Given the description of an element on the screen output the (x, y) to click on. 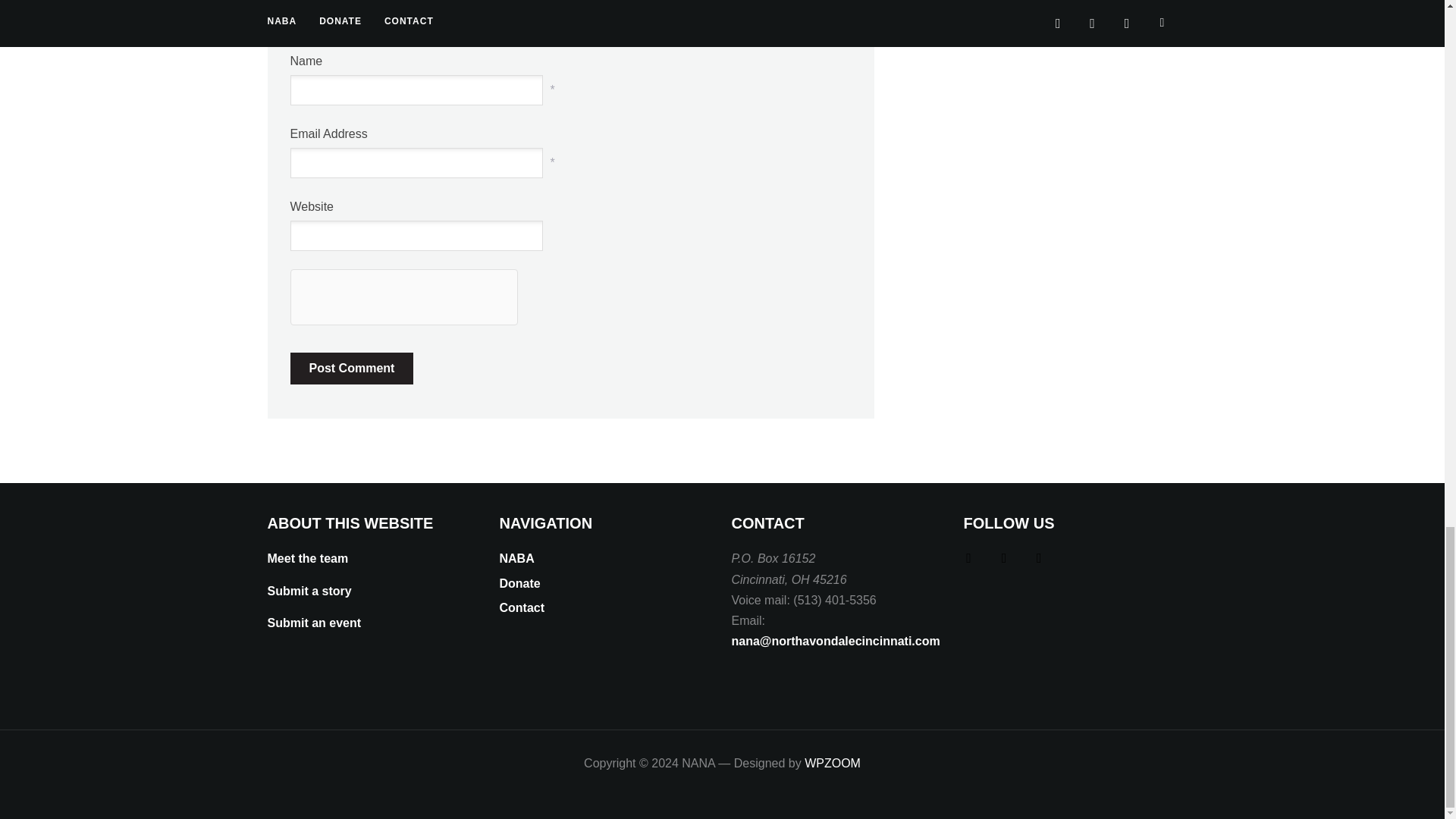
Twitter (968, 557)
Facebook (1038, 557)
Post Comment (351, 368)
Instagram (1003, 557)
